Given the description of an element on the screen output the (x, y) to click on. 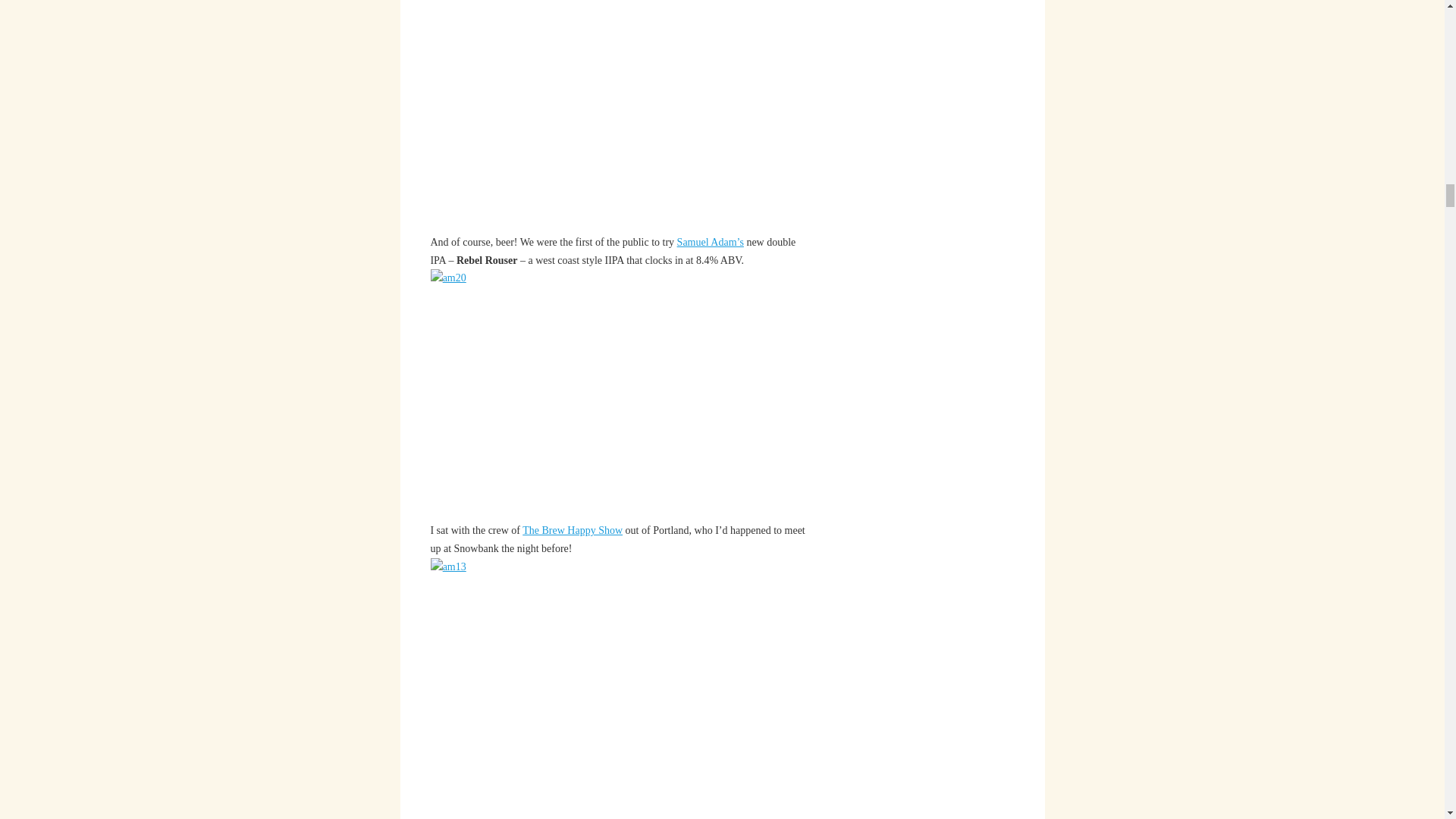
Samuel Adams Pairing Dinner (710, 242)
